Given the description of an element on the screen output the (x, y) to click on. 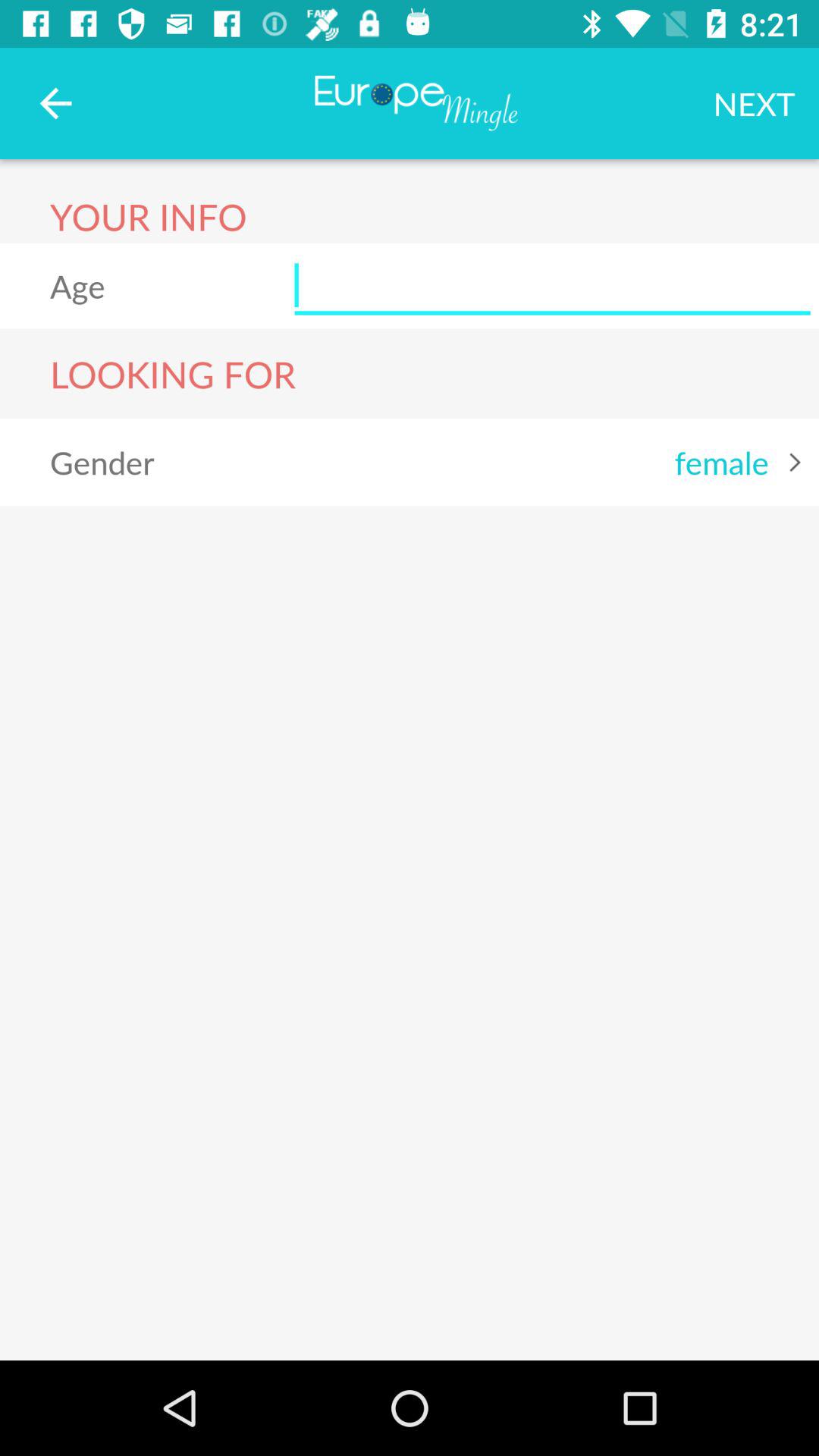
launch the item above the your info (55, 103)
